Given the description of an element on the screen output the (x, y) to click on. 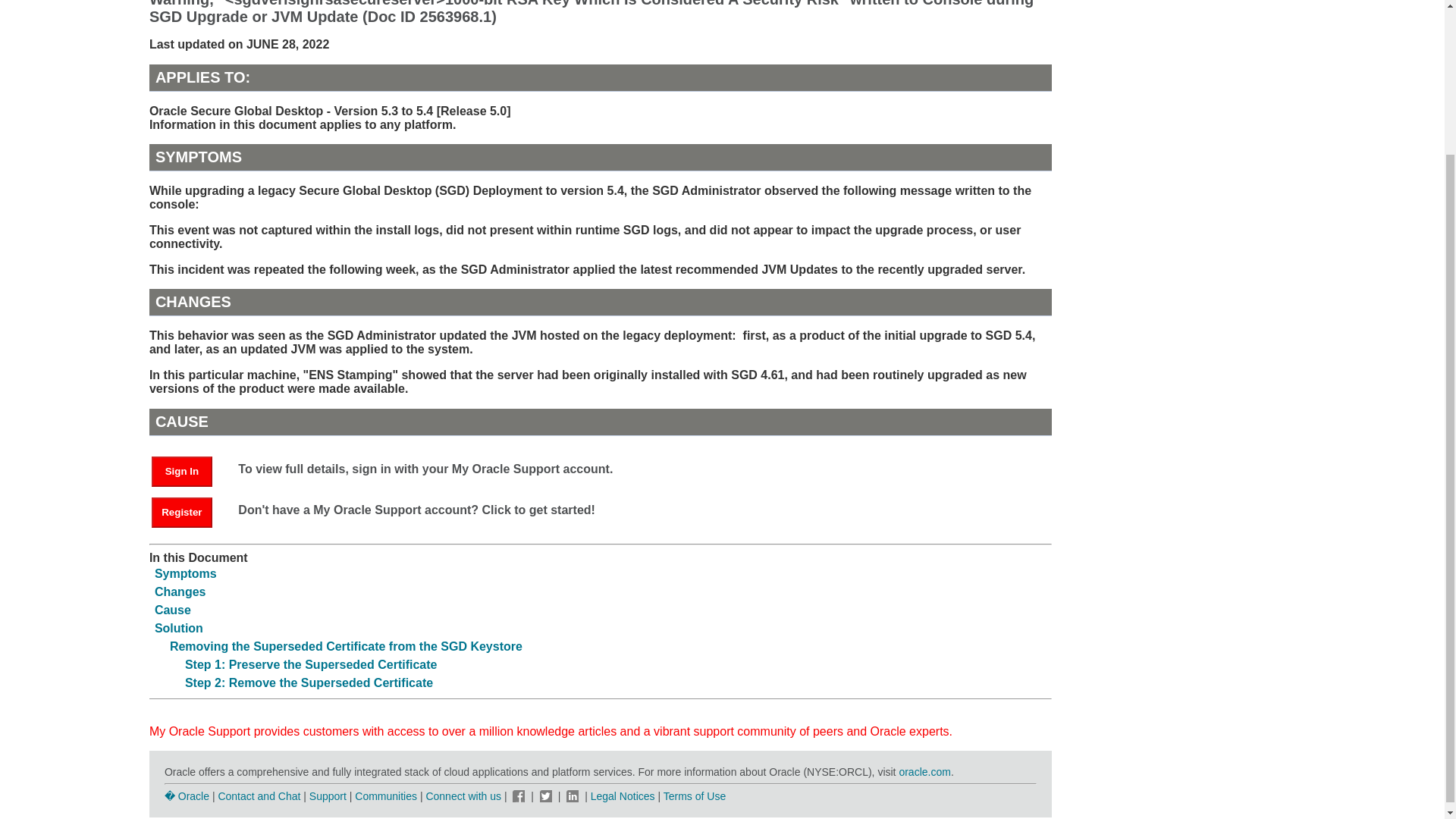
Terms of Use (694, 796)
oracle.com (924, 771)
Cause (172, 609)
Removing the Superseded Certificate from the SGD Keystore (346, 645)
Register (181, 512)
Changes (180, 591)
Contact and Chat (257, 796)
Sign In (181, 471)
Step 1: Preserve the Superseded Certificate (311, 664)
oracle.com (924, 771)
